Given the description of an element on the screen output the (x, y) to click on. 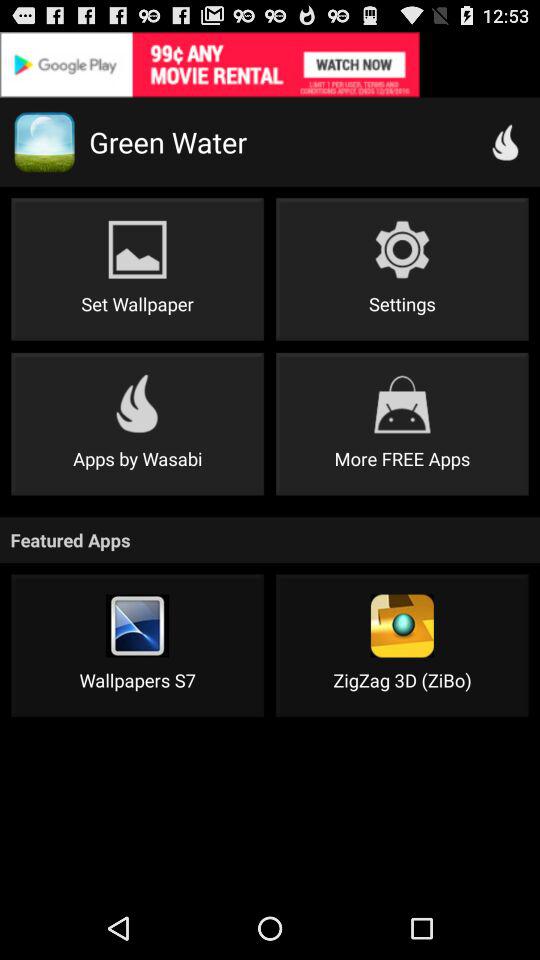
details about advertisement (270, 64)
